Given the description of an element on the screen output the (x, y) to click on. 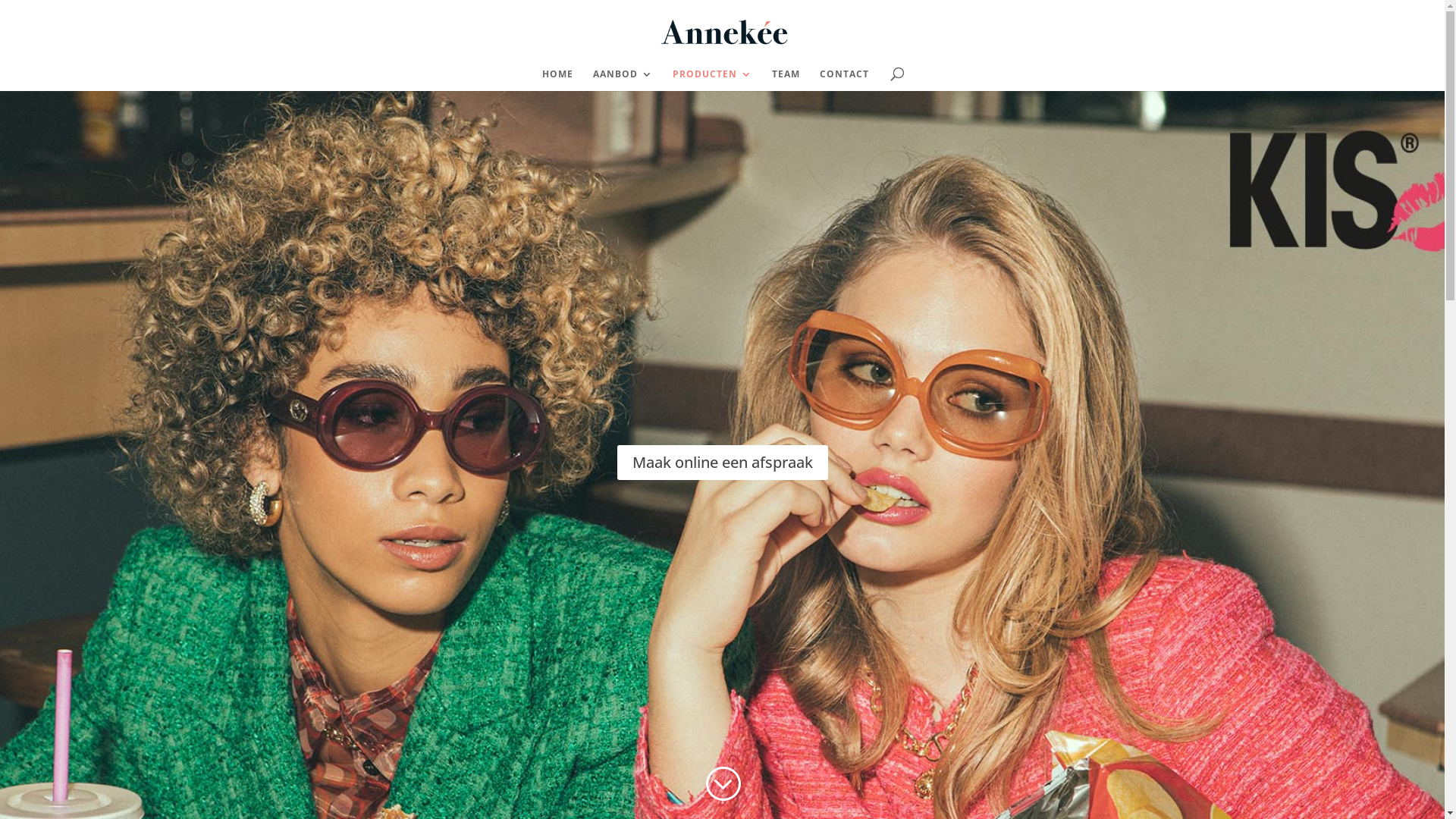
HOME Element type: text (557, 80)
TEAM Element type: text (785, 80)
CONTACT Element type: text (844, 80)
PRODUCTEN Element type: text (712, 80)
AANBOD Element type: text (622, 80)
Maak online een afspraak Element type: text (722, 462)
; Element type: text (721, 783)
